Given the description of an element on the screen output the (x, y) to click on. 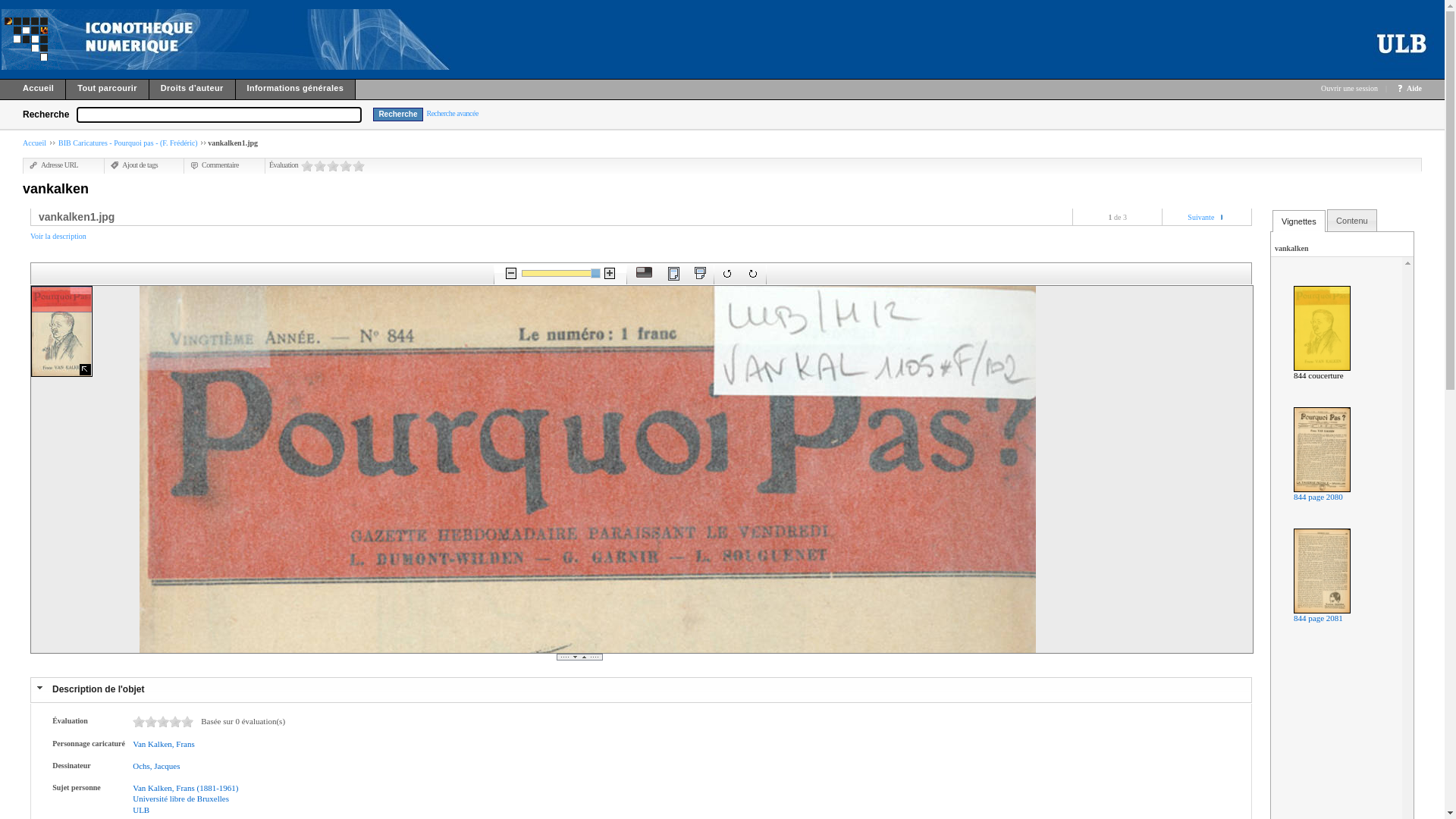
Van Kalken, Frans Element type: text (163, 743)
844 page 2081 Element type: text (1318, 617)
3 Element type: text (332, 165)
Accueil Element type: text (34, 142)
Vignettes Element type: text (1298, 221)
9 Element type: text (162, 721)
Tout parcourir Element type: text (107, 91)
844 coucerture Element type: text (1318, 374)
844 page 2080 Element type: text (1318, 496)
1 Element type: text (138, 721)
ICONOTHEQUE NUMERIQUE Element type: hover (261, 39)
Ajout de tags Element type: text (133, 164)
Visualisateur Element type: hover (643, 272)
Aide Element type: text (1413, 88)
ULB Element type: text (140, 809)
17 Element type: text (187, 721)
Adresse URL Element type: text (53, 164)
1 Element type: text (307, 165)
Commentaire Element type: text (214, 164)
Pivoter vers la droite Element type: hover (752, 273)
5 Element type: text (358, 165)
Ouvrir une session Element type: text (1349, 88)
Suivante Element type: text (1200, 217)
Description de l'objet Element type: text (98, 689)
13 Element type: text (175, 721)
Voir la description Element type: text (58, 236)
Van Kalken, Frans (1881-1961) Element type: text (185, 787)
4 Element type: text (345, 165)
Pivoter vers la gauche Element type: hover (727, 273)
Ochs, Jacques Element type: text (155, 765)
ICONOTHEQUE NUMERIQUE Element type: hover (31, 39)
Accueil Element type: text (32, 91)
Zoom avant Element type: hover (609, 273)
5 Element type: text (150, 721)
Contenu Element type: text (1351, 220)
150% Element type: hover (560, 272)
2 Element type: text (319, 165)
